Given the description of an element on the screen output the (x, y) to click on. 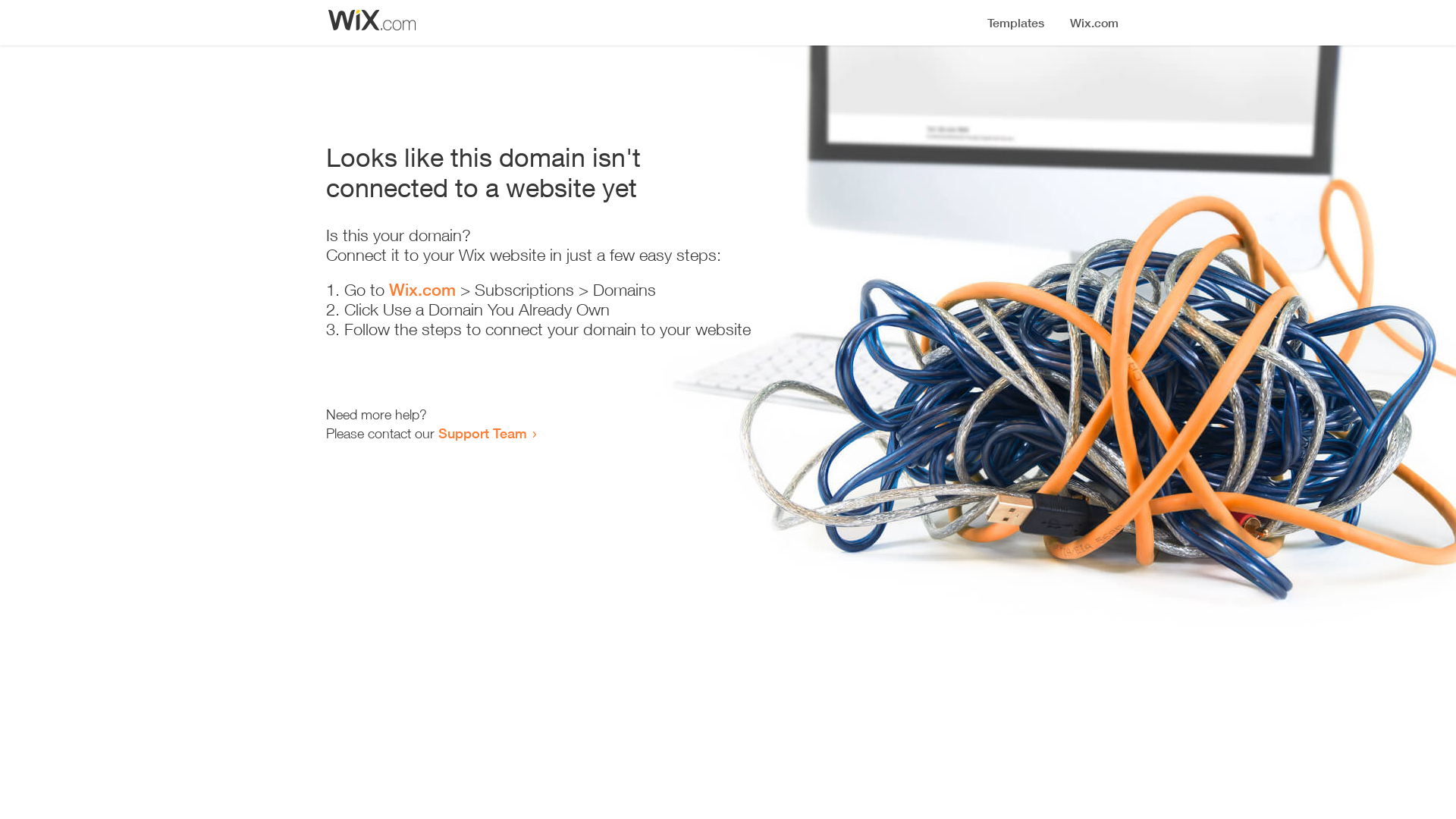
Wix.com Element type: text (422, 289)
Support Team Element type: text (482, 432)
